Given the description of an element on the screen output the (x, y) to click on. 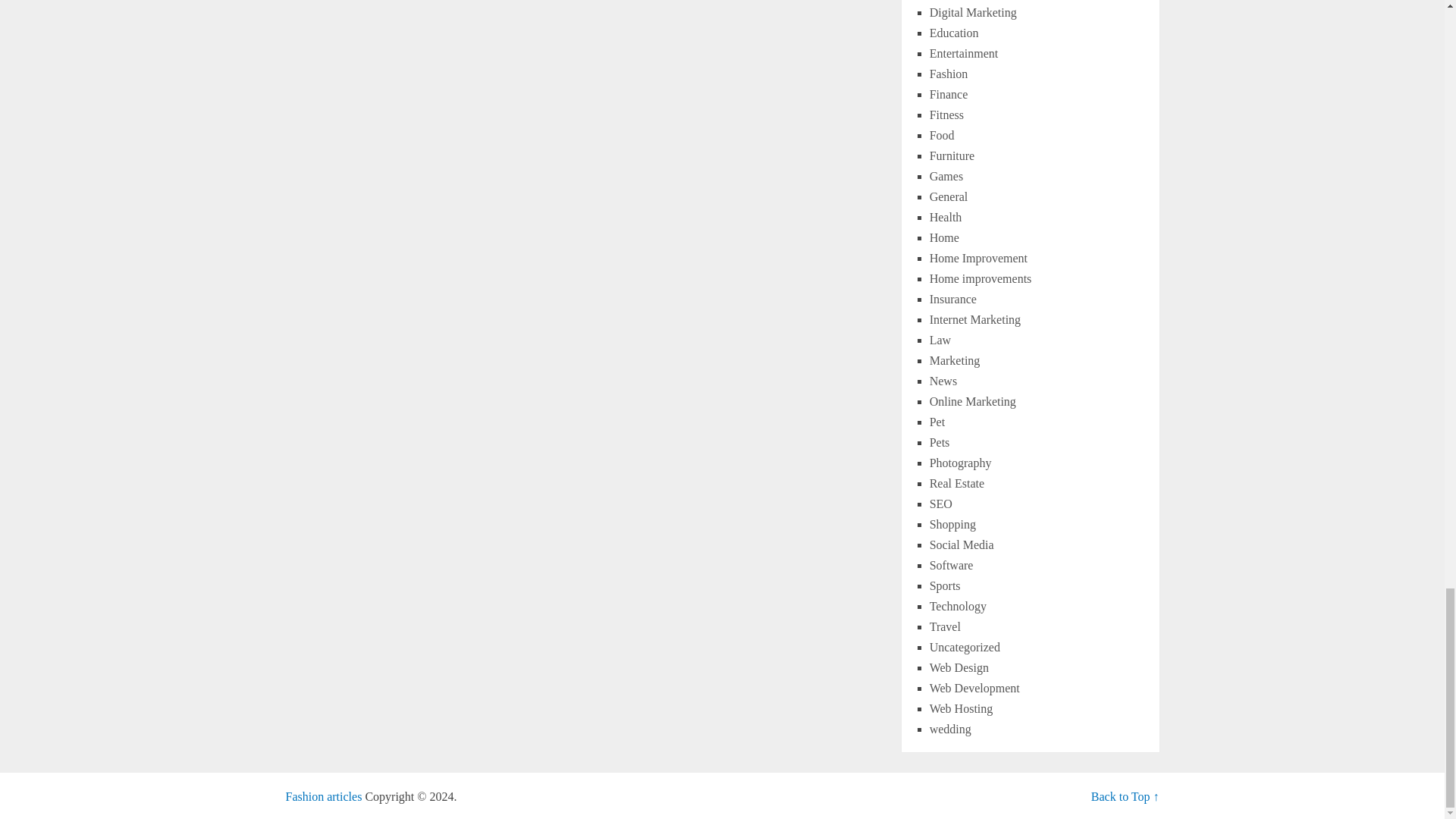
Think differently to be a unique person (323, 796)
